Given the description of an element on the screen output the (x, y) to click on. 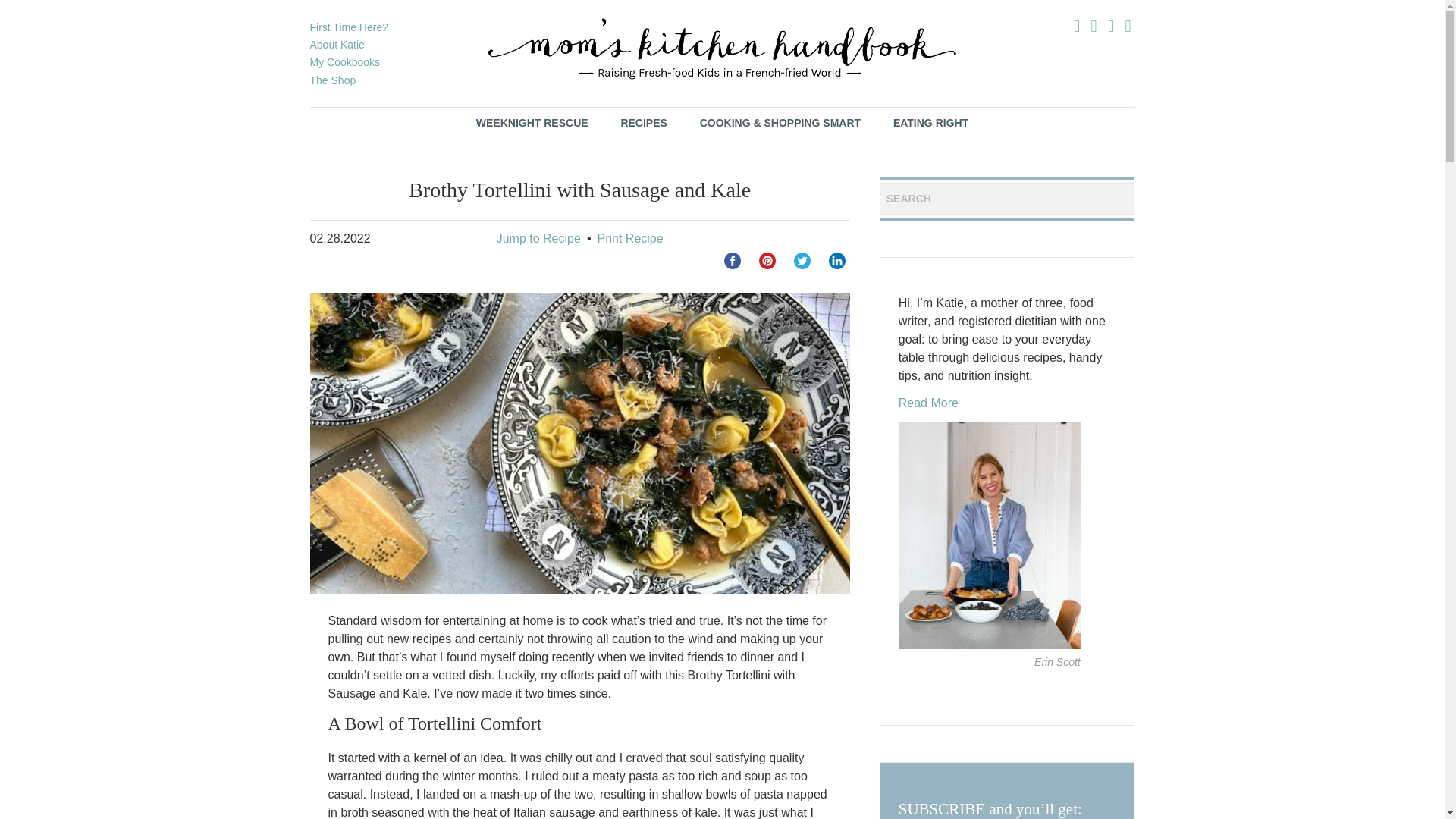
facebook (732, 260)
Raising Fresh-Food Kids in a French-Fried World (721, 48)
Print Recipe (629, 237)
Read More (928, 402)
linkedin (837, 260)
WEEKNIGHT RESCUE (532, 123)
First Time Here? (347, 27)
pinterest (767, 260)
twitter (802, 260)
Jump to Recipe (538, 237)
